Given the description of an element on the screen output the (x, y) to click on. 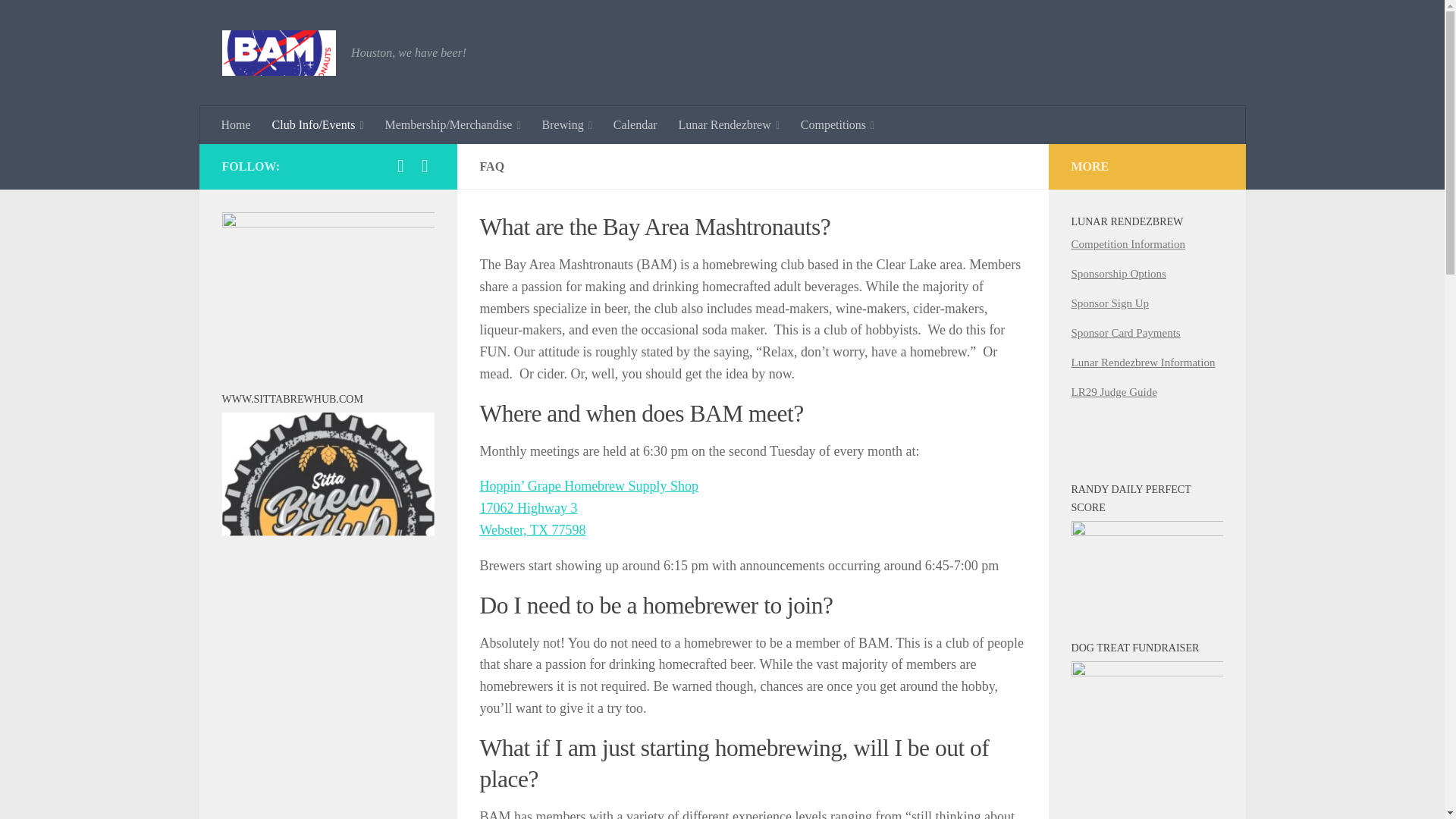
Home (236, 125)
Skip to content (59, 20)
Follow us on Facebook (400, 166)
Follow us on Twitter (423, 166)
